Given the description of an element on the screen output the (x, y) to click on. 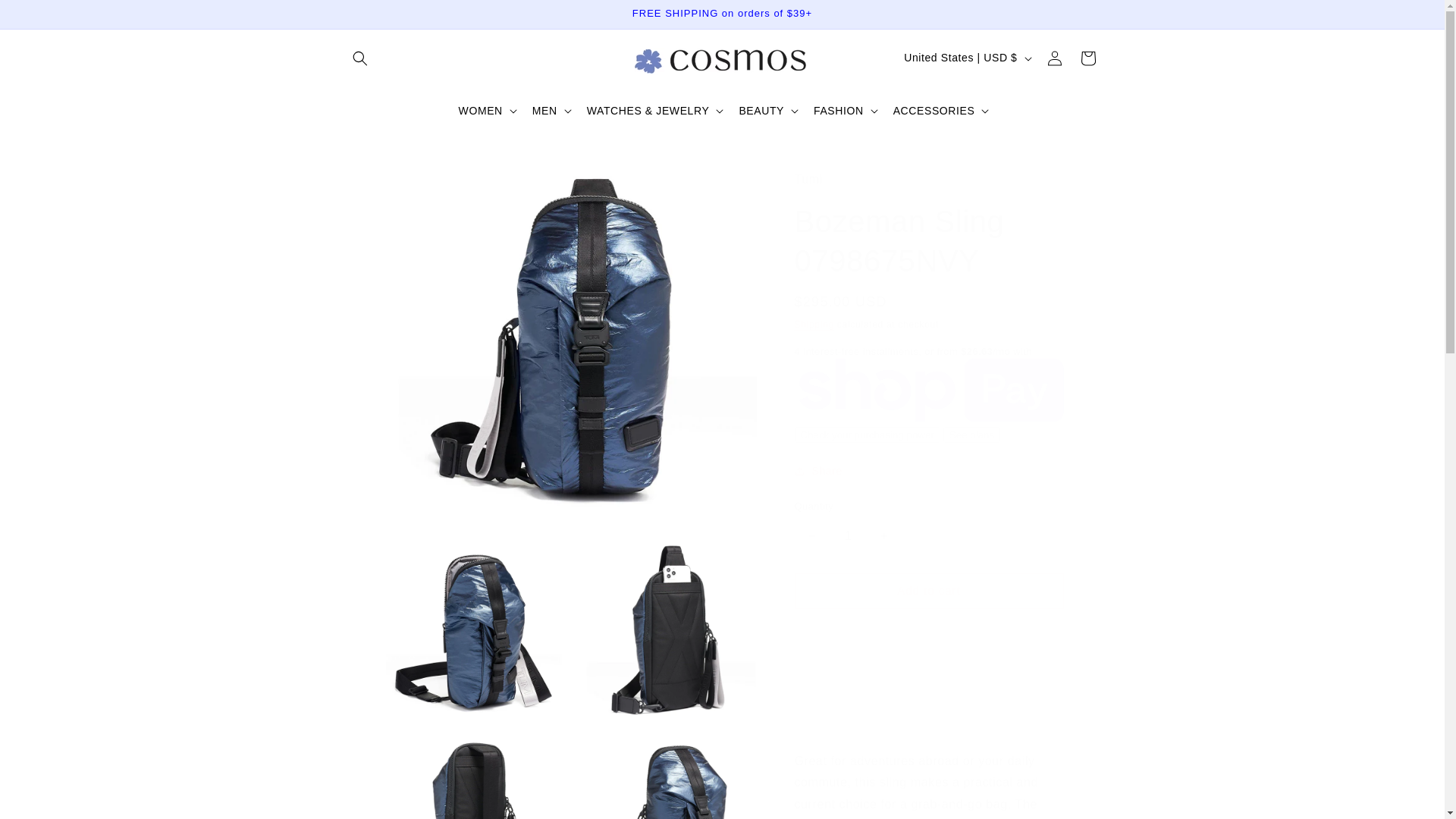
1 (848, 536)
Skip to content (45, 17)
Open media 2 in modal (471, 632)
Open media 5 in modal (666, 776)
Open media 3 in modal (666, 632)
Open media 4 in modal (471, 776)
